Given the description of an element on the screen output the (x, y) to click on. 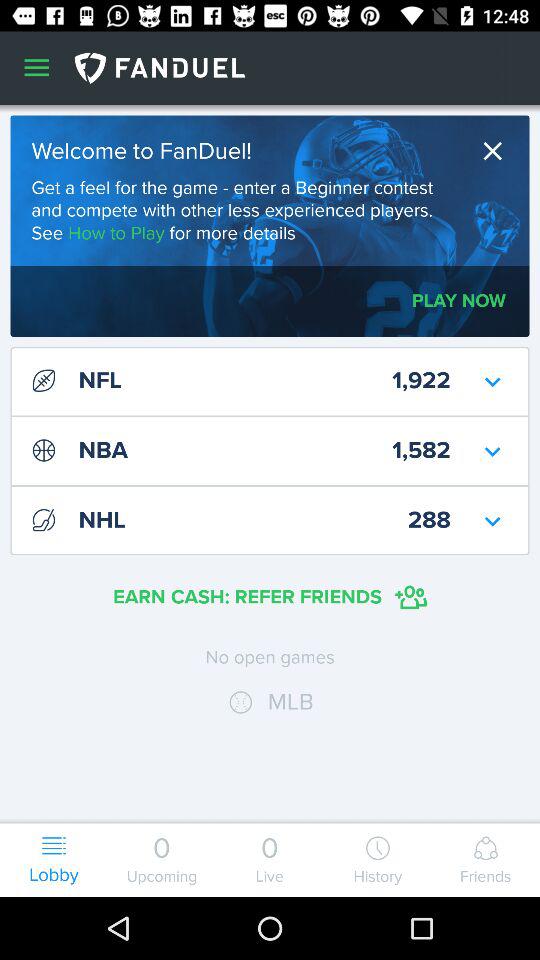
select the icon to the right of the welcome to fanduel! item (497, 150)
